Given the description of an element on the screen output the (x, y) to click on. 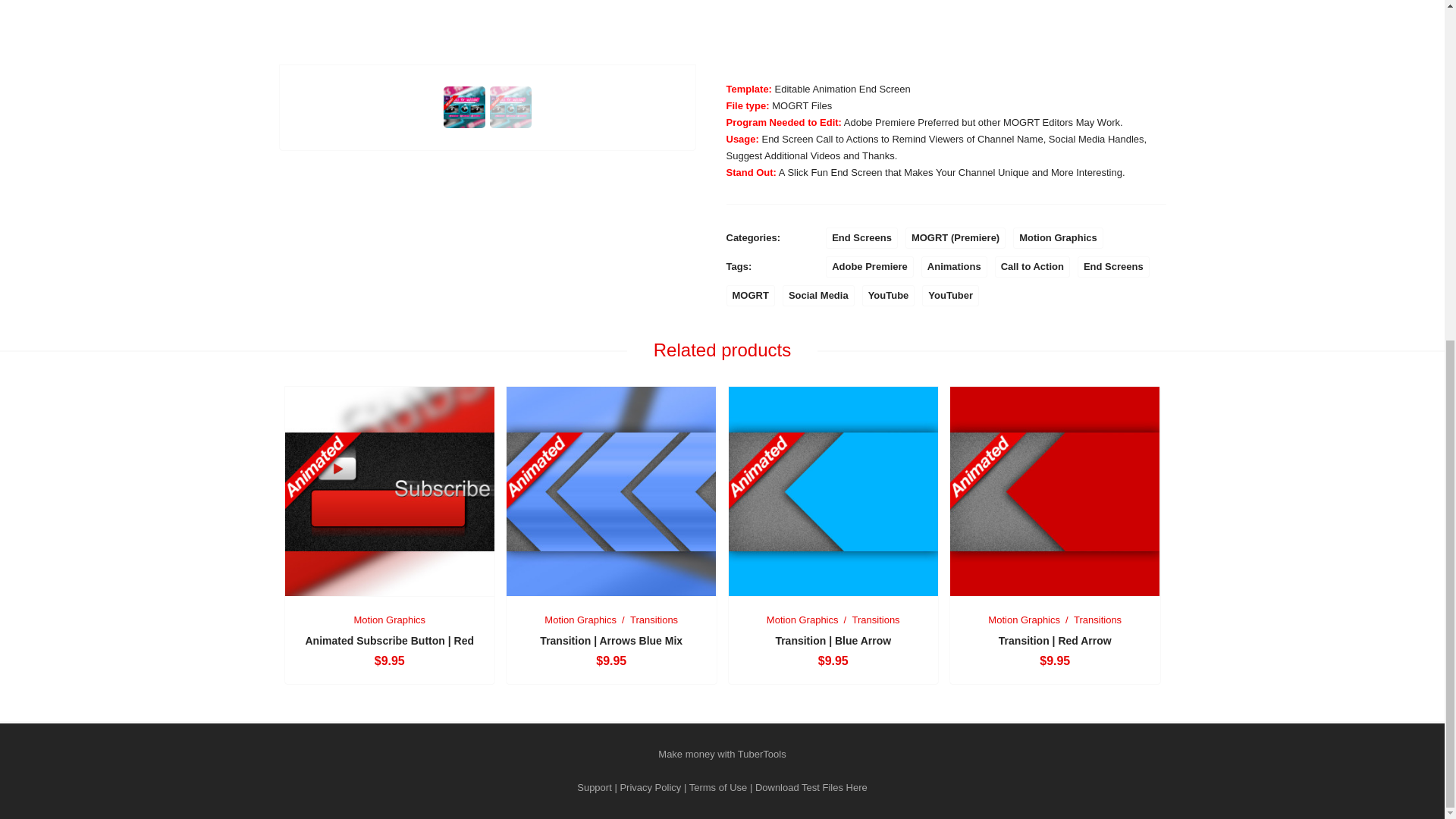
End Screens (1113, 266)
YouTube (888, 295)
Social Media (818, 295)
YouTuber (949, 295)
Adobe Premiere (869, 266)
editable end screen 5 (946, 32)
Motion Graphics (1058, 237)
End Screens (861, 237)
MOGRT (750, 295)
Animations (954, 266)
Call to Action (1032, 266)
